Given the description of an element on the screen output the (x, y) to click on. 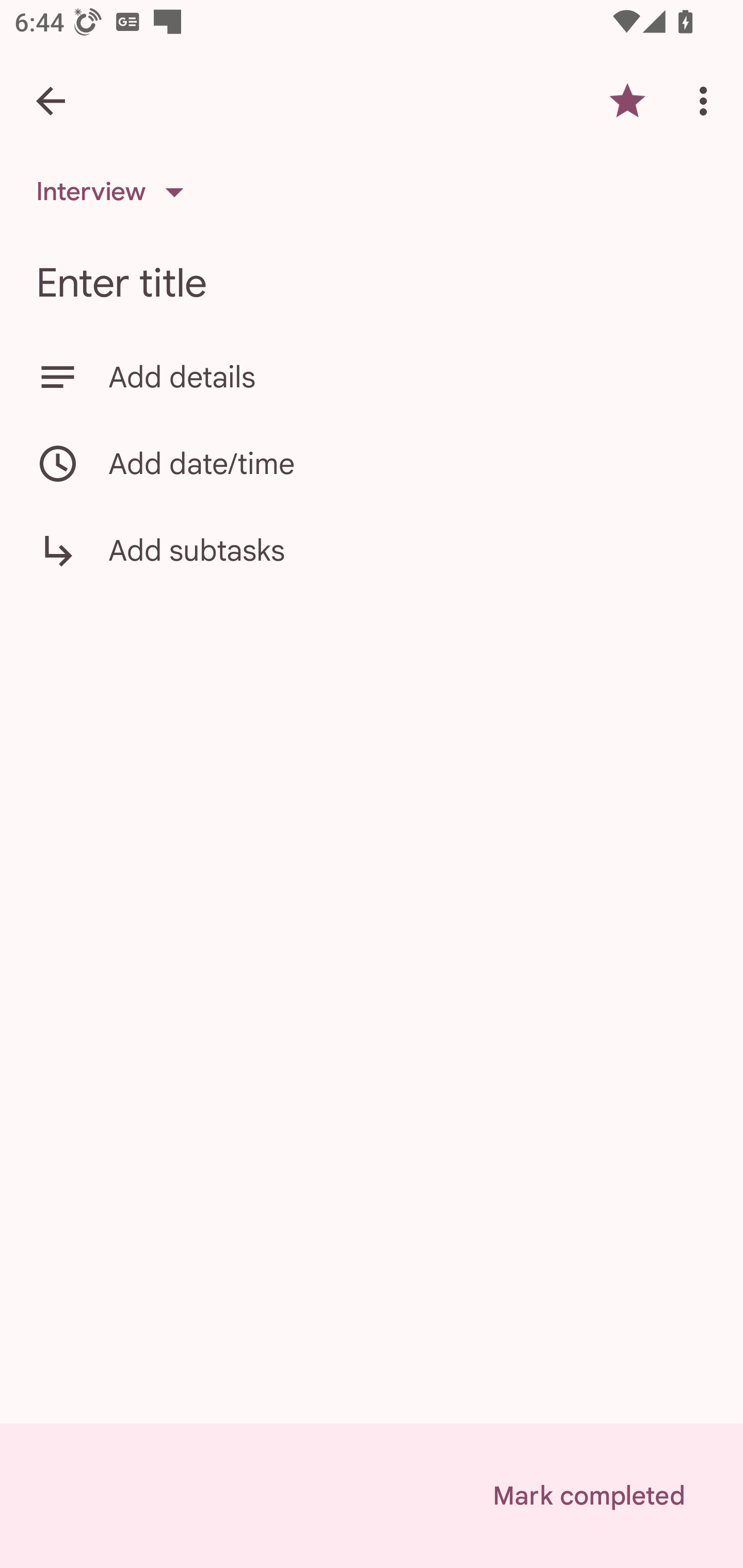
Back (50, 101)
Remove star (626, 101)
More options (706, 101)
Interview List, Interview selected, 1 of 4 (116, 191)
Enter title (371, 283)
Add details (371, 376)
Add details (407, 376)
Add date/time (371, 463)
Add subtasks (371, 564)
Mark completed (588, 1495)
